Given the description of an element on the screen output the (x, y) to click on. 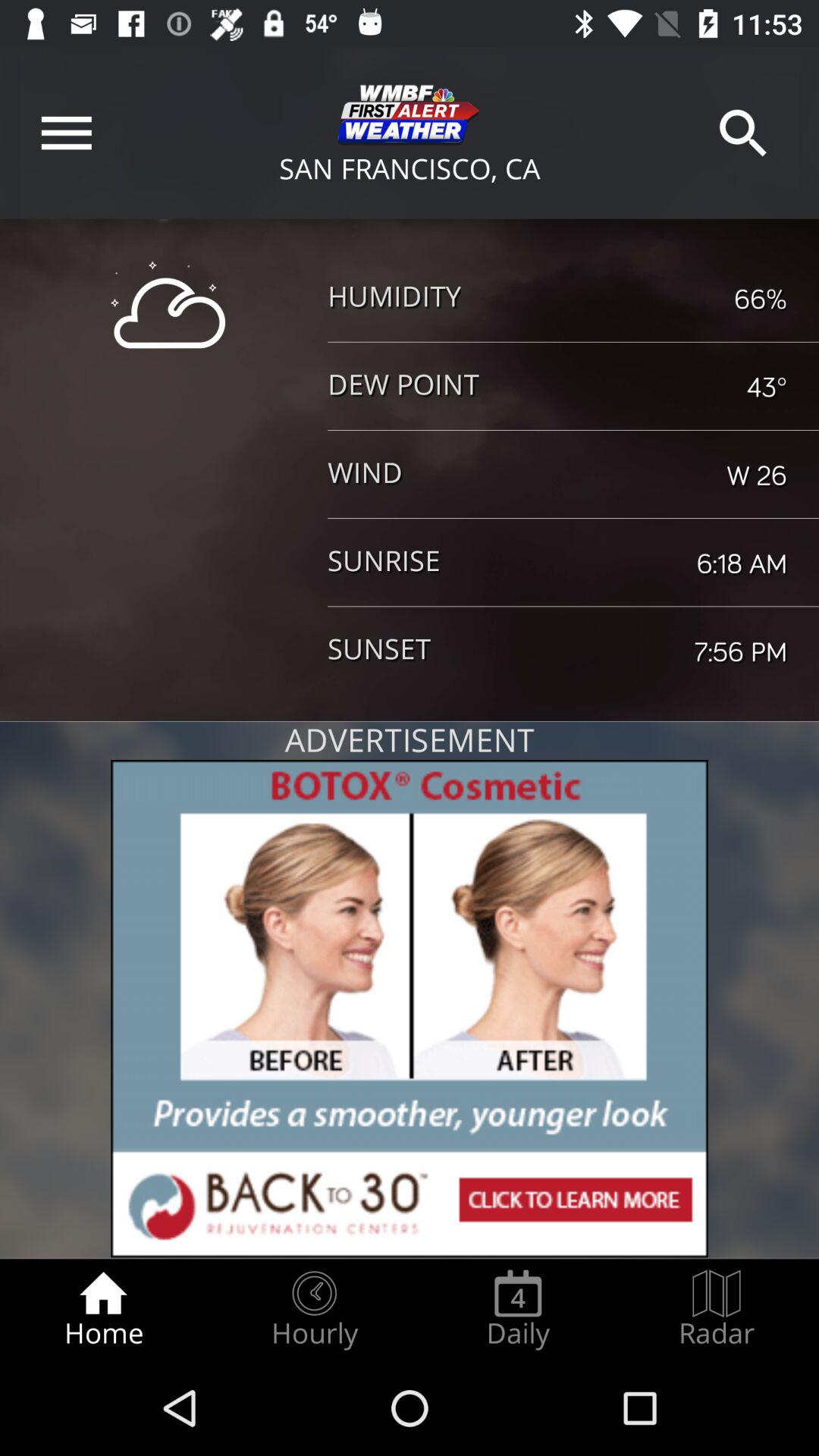
select the radio button at the bottom left corner (103, 1309)
